Given the description of an element on the screen output the (x, y) to click on. 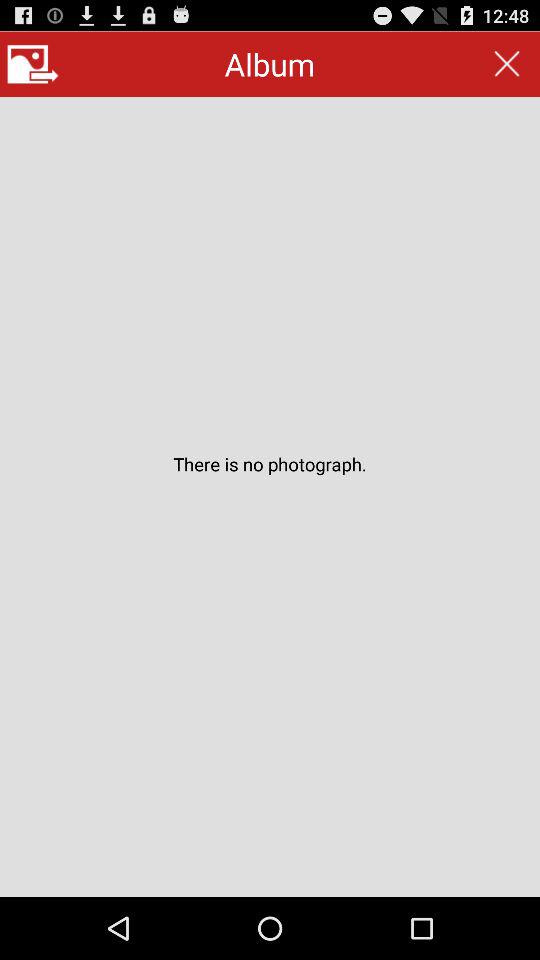
choose item to the right of the album (506, 64)
